Given the description of an element on the screen output the (x, y) to click on. 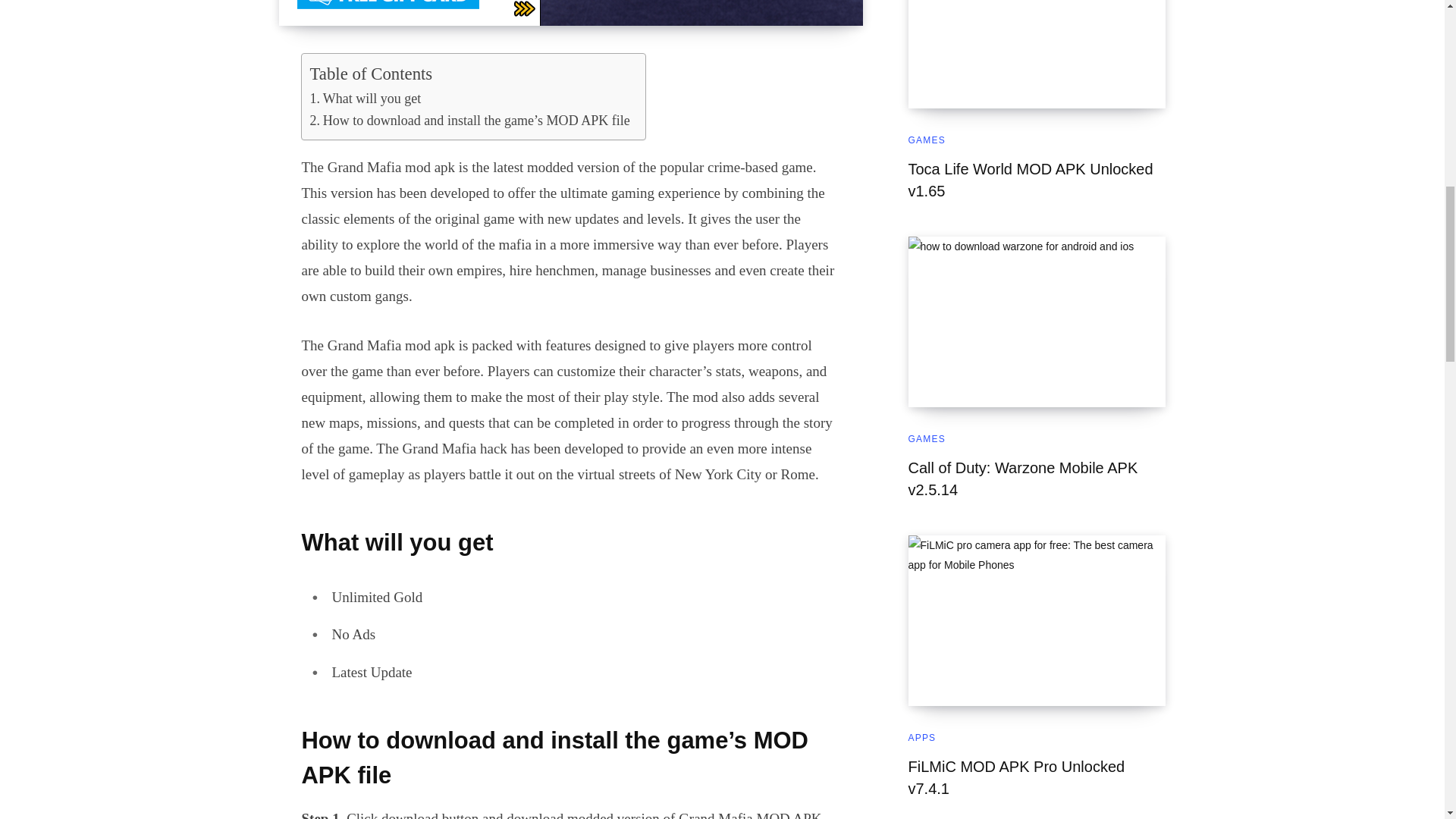
What will you get (364, 98)
The Grand Mafia MOD APK for Unlimited Gold (571, 12)
What will you get (364, 98)
